Given the description of an element on the screen output the (x, y) to click on. 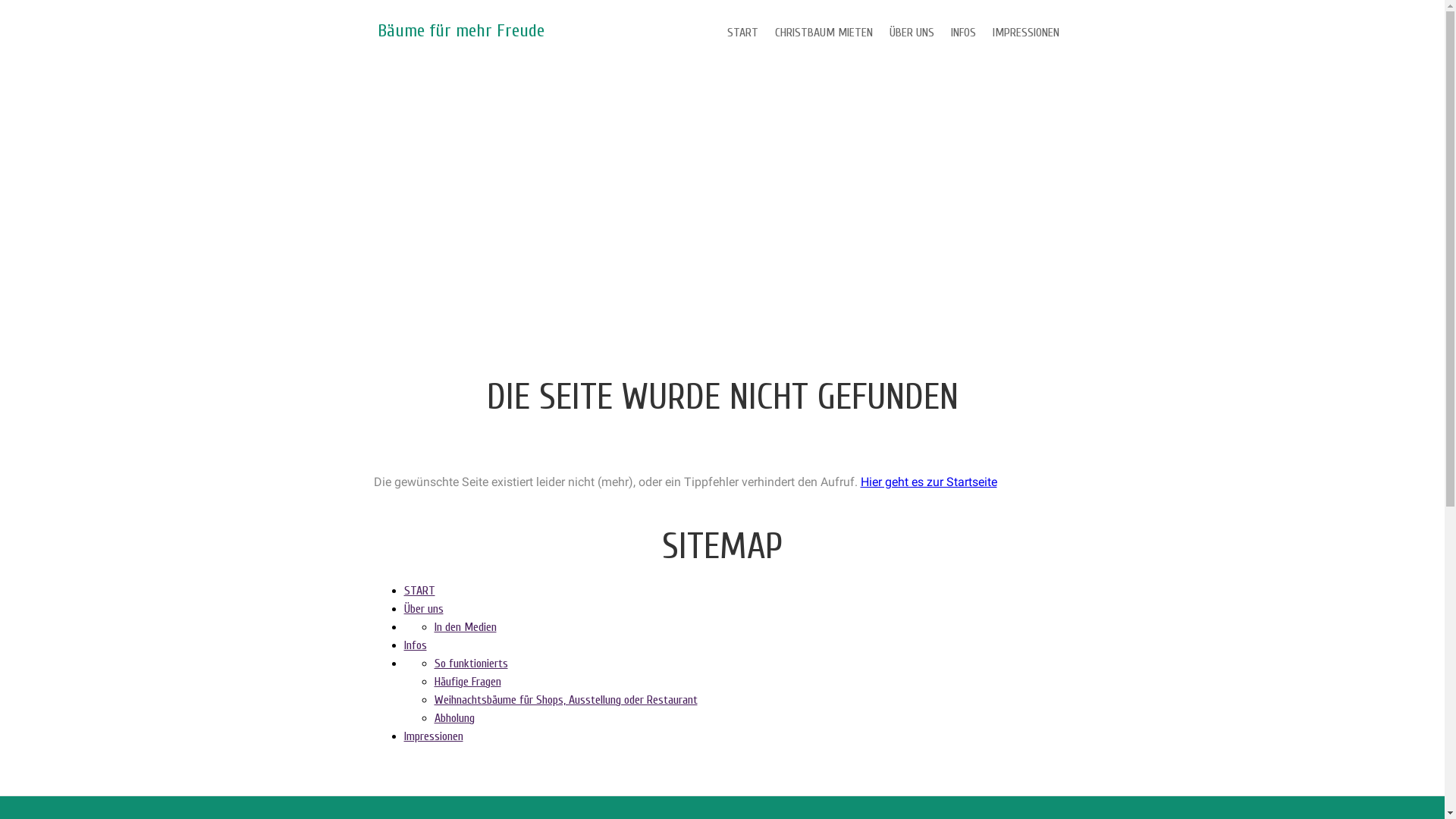
START Element type: text (418, 590)
In den Medien Element type: text (464, 626)
INFOS Element type: text (962, 32)
Abholung Element type: text (453, 717)
Impressionen Element type: text (432, 736)
Hier geht es zur Startseite Element type: text (927, 481)
Infos Element type: text (414, 645)
IMPRESSIONEN Element type: text (1025, 32)
START Element type: text (742, 32)
CHRISTBAUM MIETEN Element type: text (822, 32)
So funktionierts Element type: text (470, 663)
